Given the description of an element on the screen output the (x, y) to click on. 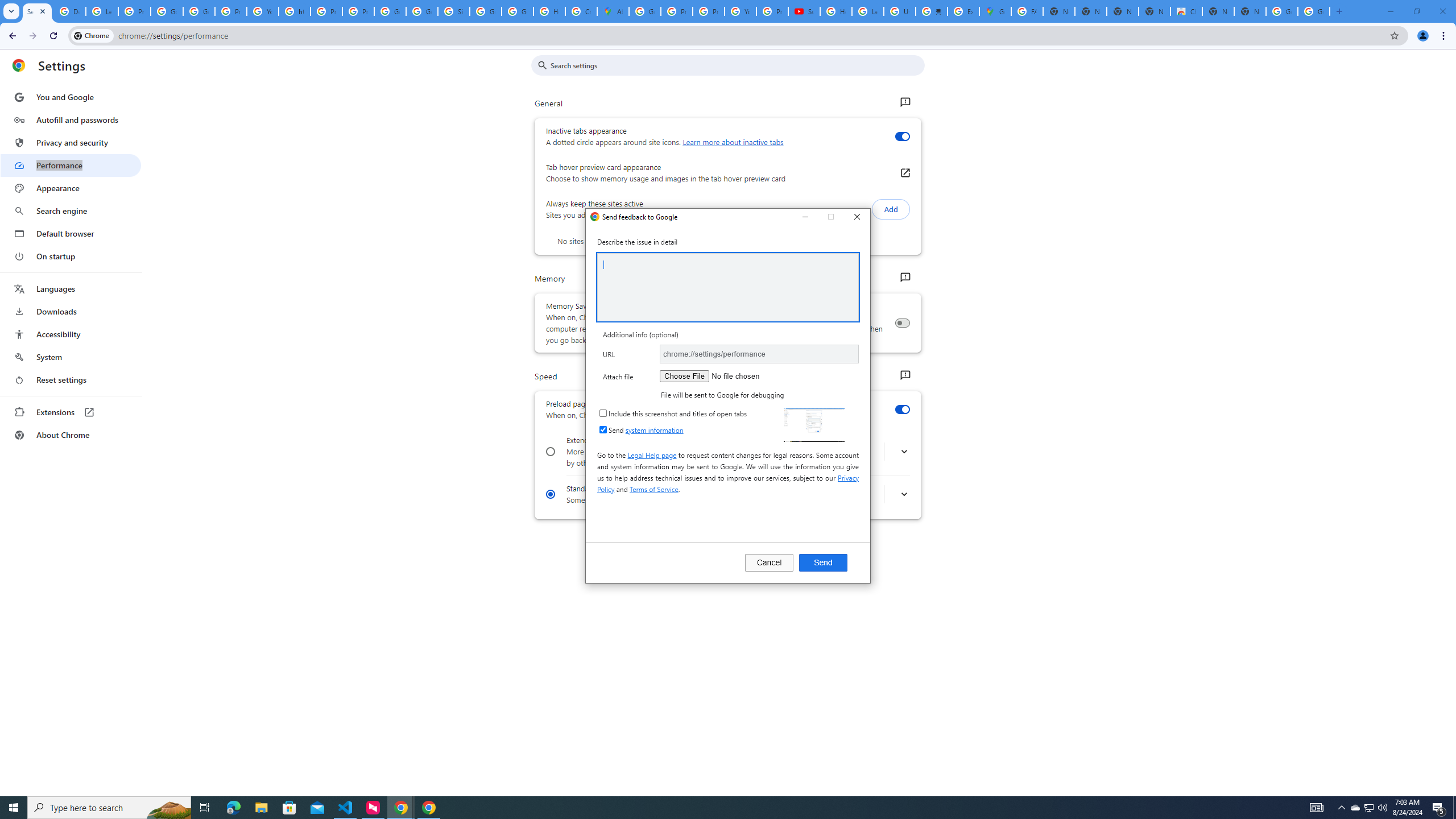
Inactive tabs appearance (901, 136)
system information (654, 429)
Google Maps (995, 11)
Notification Chevron (1341, 807)
AutomationID: 4105 (1316, 807)
On startup (70, 255)
Cancel (769, 562)
Extended preloading (550, 452)
Microsoft Edge (233, 807)
Accessibility (70, 333)
Start (13, 807)
